Given the description of an element on the screen output the (x, y) to click on. 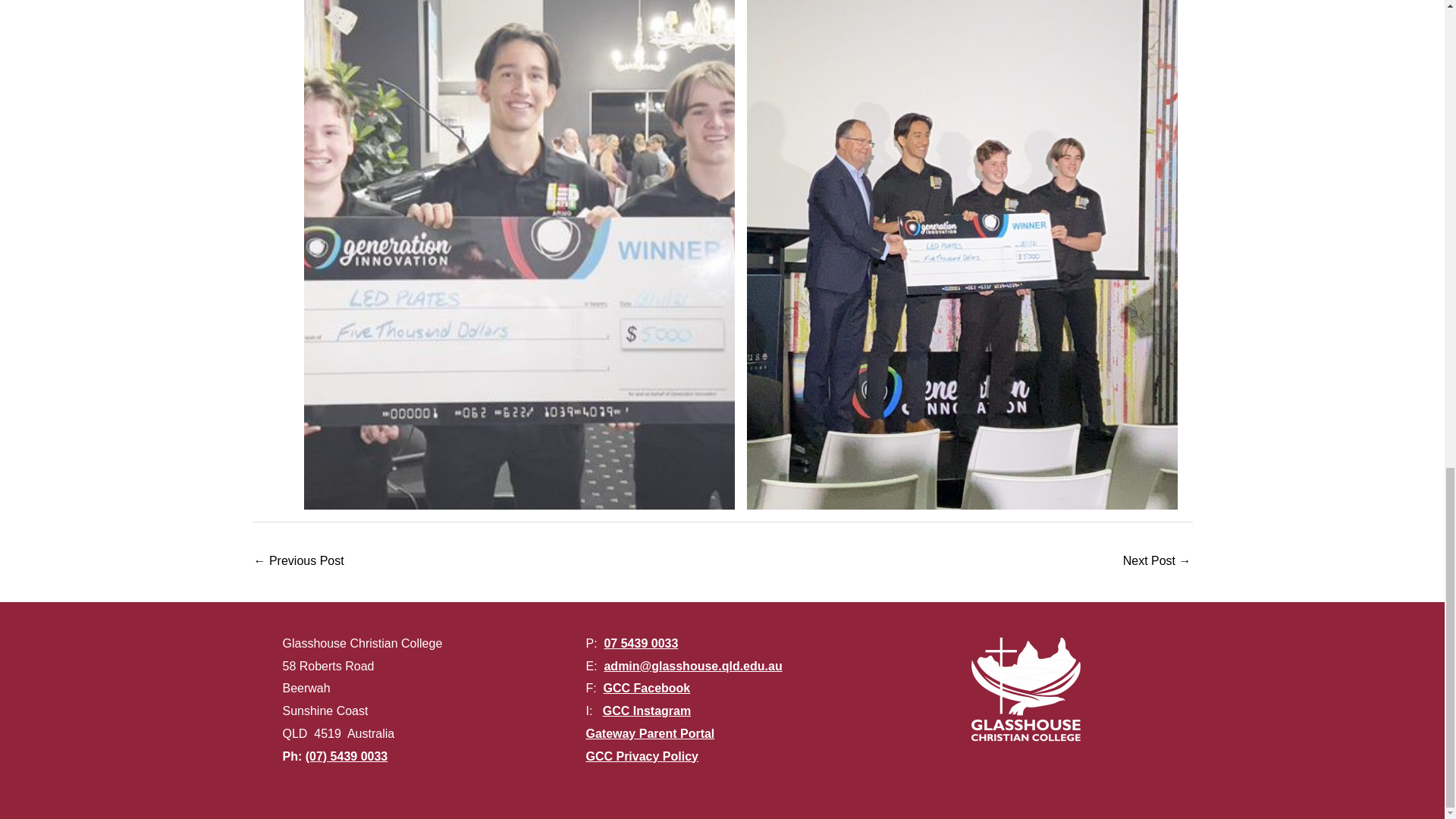
Library News: Book Club Thanks (1156, 561)
Boys clean sweep at Interschool Touch Football (298, 561)
ghc-logo-white-001 (1026, 689)
